Given the description of an element on the screen output the (x, y) to click on. 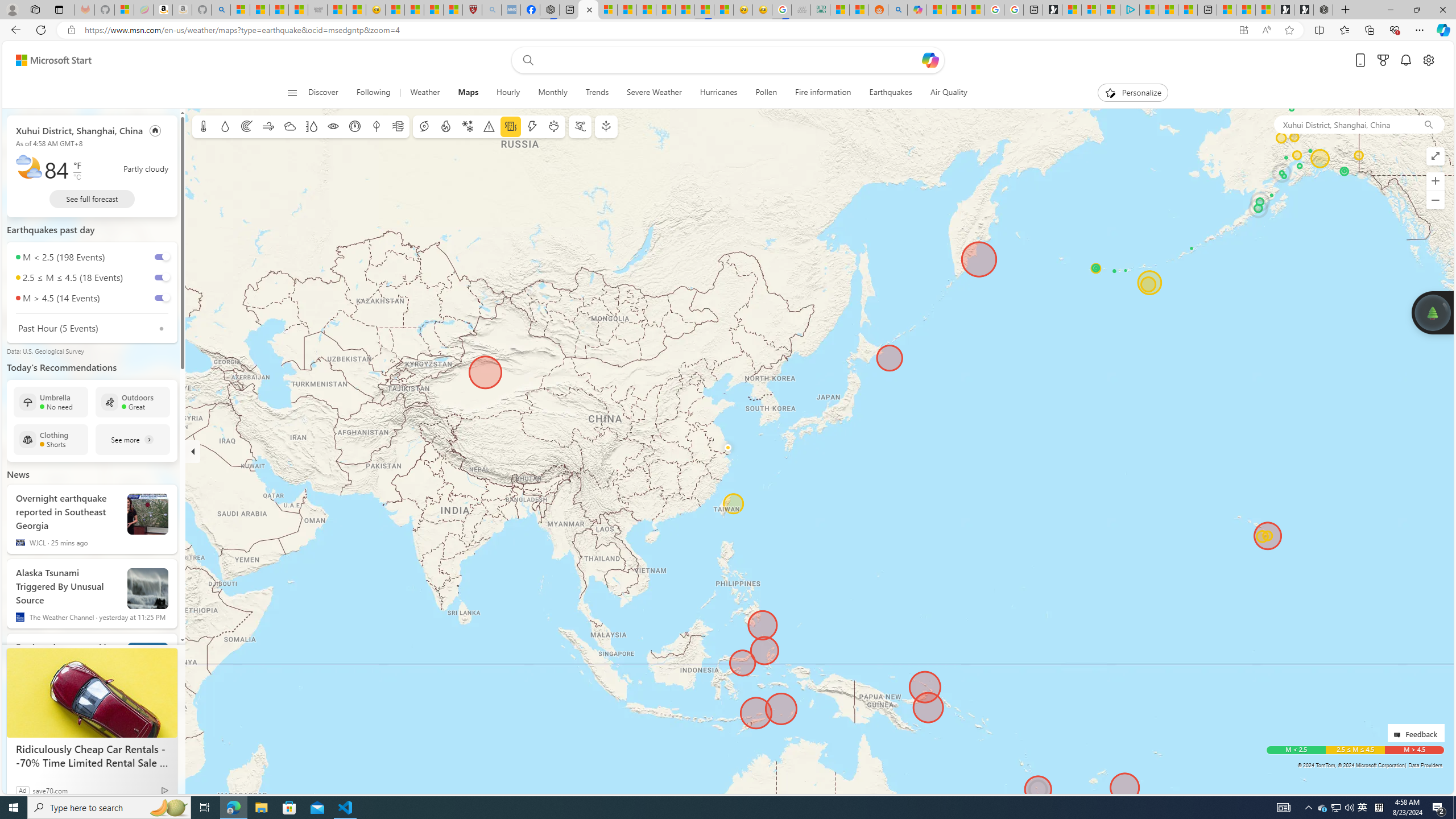
Skip to footer (46, 59)
Close (1442, 9)
The Weather Channel (20, 616)
Air Quality (943, 92)
Skip to content (49, 59)
New tab (1206, 9)
Radar (246, 126)
Fire information (823, 92)
Microsoft Copilot in Bing (916, 9)
Nordace - Nordace Siena Is Not An Ordinary Backpack (1323, 9)
Trends (597, 92)
Umbrella No need (50, 401)
